Given the description of an element on the screen output the (x, y) to click on. 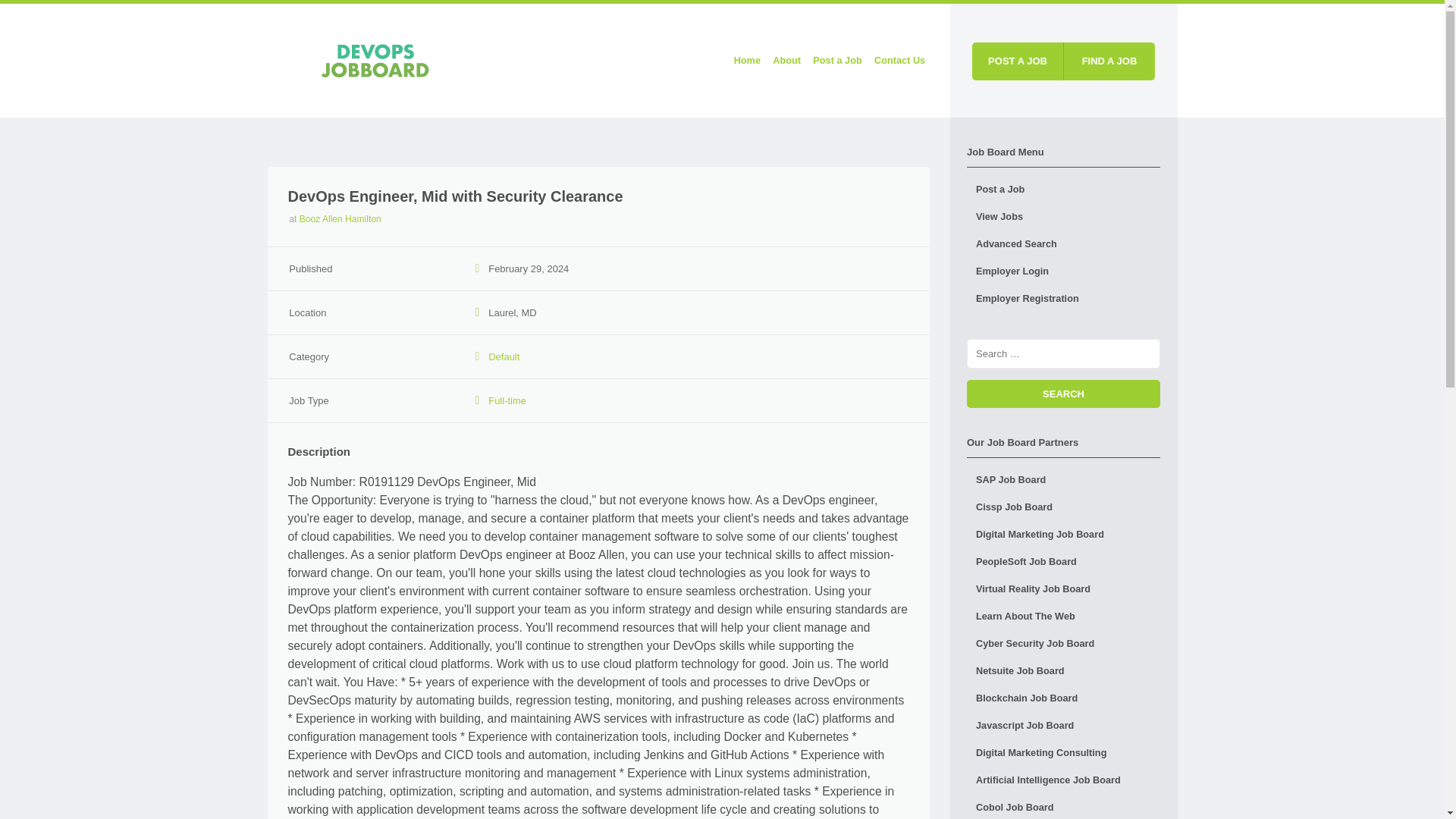
Digital Marketing Job Board (1063, 533)
Skip to content (641, 60)
Employer Login (1063, 271)
Contact Us (899, 60)
Post a Job (837, 60)
Advanced Search (1063, 243)
Default (503, 356)
Virtual Reality Job Board (1063, 588)
Cyber Security Job Board (1063, 643)
Cissp Job Board (1063, 506)
